Given the description of an element on the screen output the (x, y) to click on. 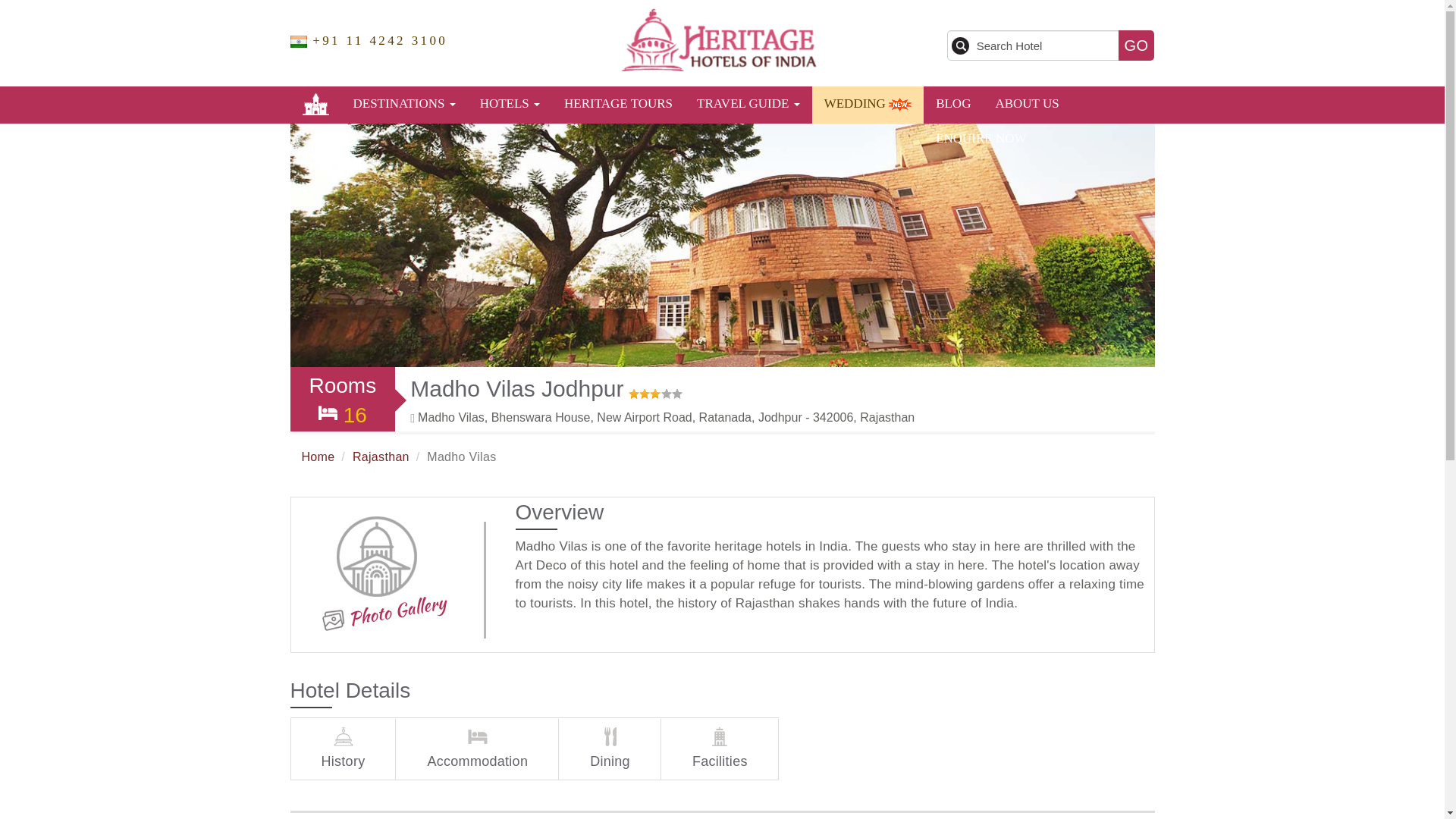
Go (1136, 45)
Go (1136, 45)
BLOG (952, 103)
HERITAGE TOURS (617, 103)
WEDDING (867, 103)
DESTINATIONS (403, 103)
HOTELS (509, 103)
TRAVEL GUIDE (748, 103)
